Given the description of an element on the screen output the (x, y) to click on. 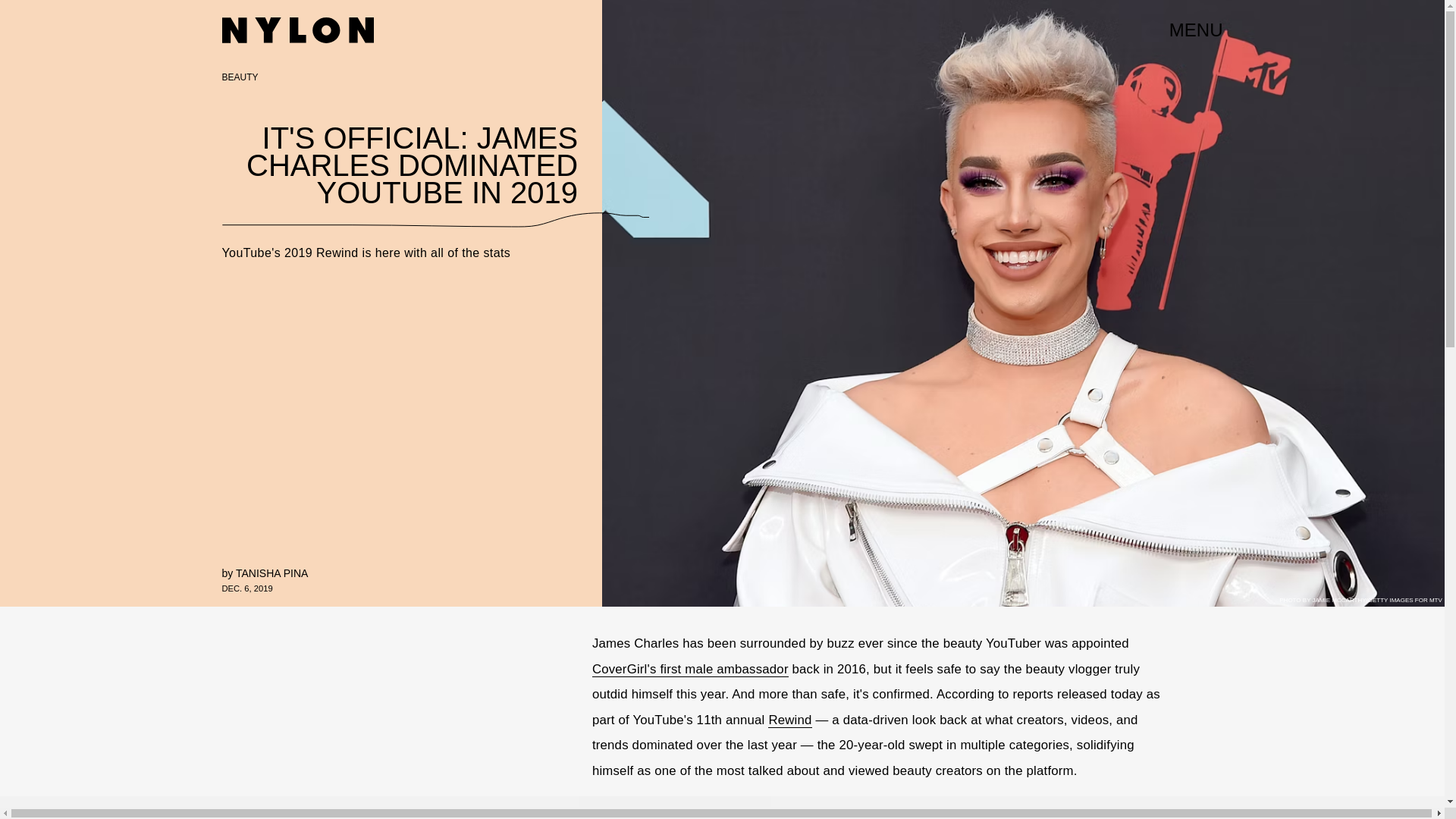
CoverGirl's first male ambassador (690, 669)
Rewind (789, 720)
Nylon (296, 30)
TANISHA PINA (271, 573)
